Given the description of an element on the screen output the (x, y) to click on. 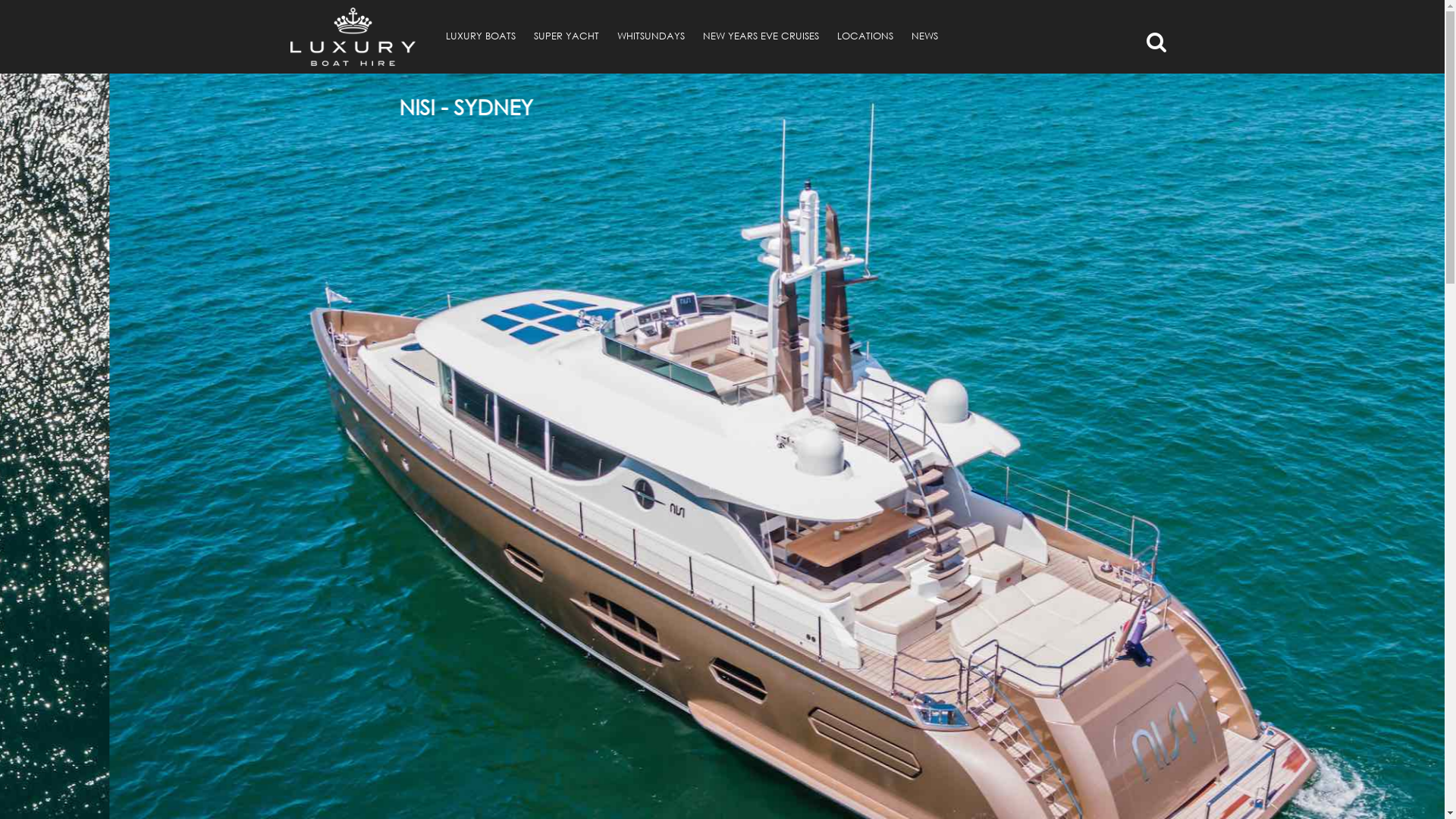
SERENITY - SYDNEY Element type: text (727, 109)
NEWS Element type: text (924, 35)
NEW YEARS EVE CRUISES Element type: text (759, 35)
LOCATIONS Element type: text (864, 35)
LUXURY BOATS Element type: text (480, 35)
SUPER YACHT Element type: text (566, 35)
WHITSUNDAYS Element type: text (650, 35)
